Given the description of an element on the screen output the (x, y) to click on. 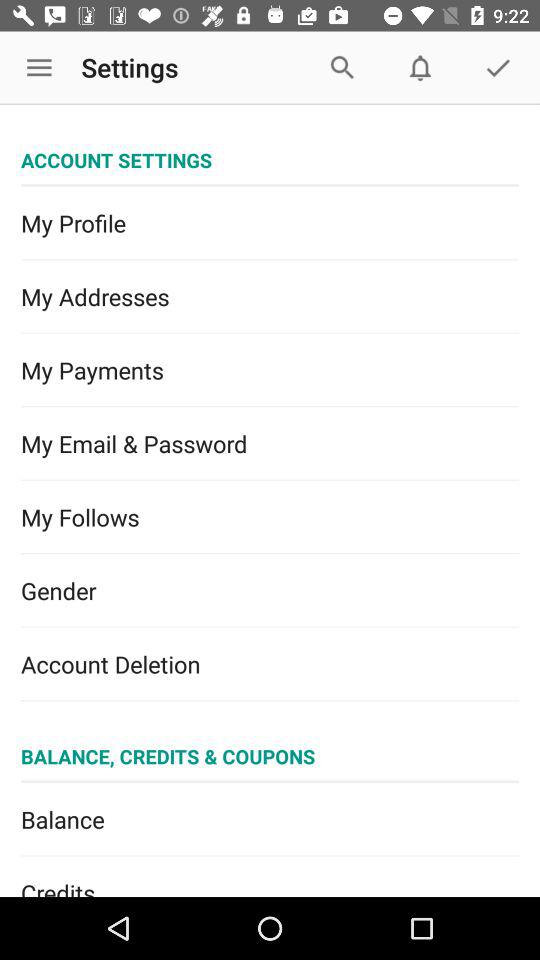
turn off the account deletion icon (270, 664)
